Given the description of an element on the screen output the (x, y) to click on. 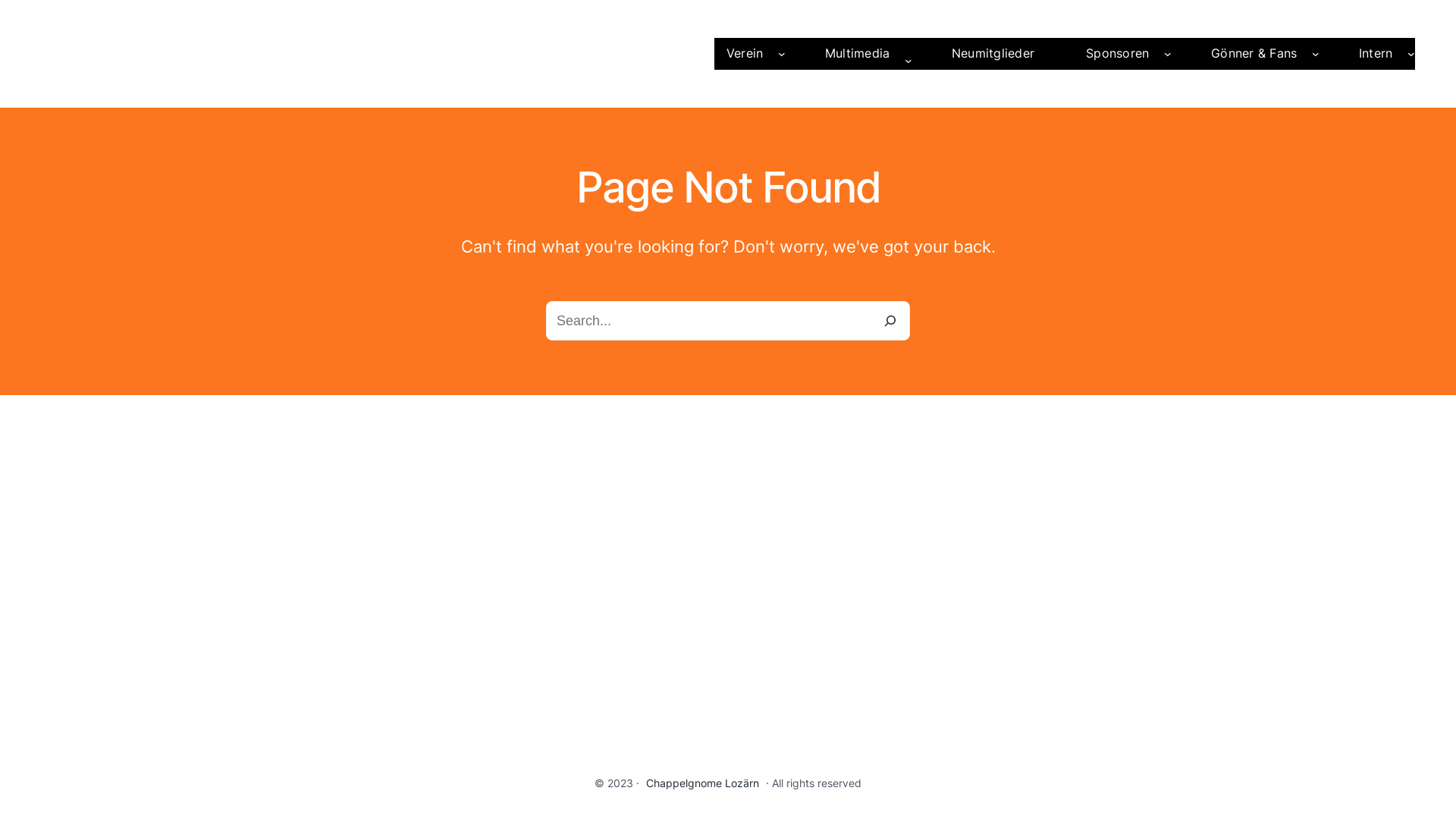
Verein Element type: text (744, 53)
Multimedia Element type: text (857, 53)
Sponsoren Element type: text (1117, 53)
Intern Element type: text (1375, 53)
Neumitglieder Element type: text (992, 53)
